Given the description of an element on the screen output the (x, y) to click on. 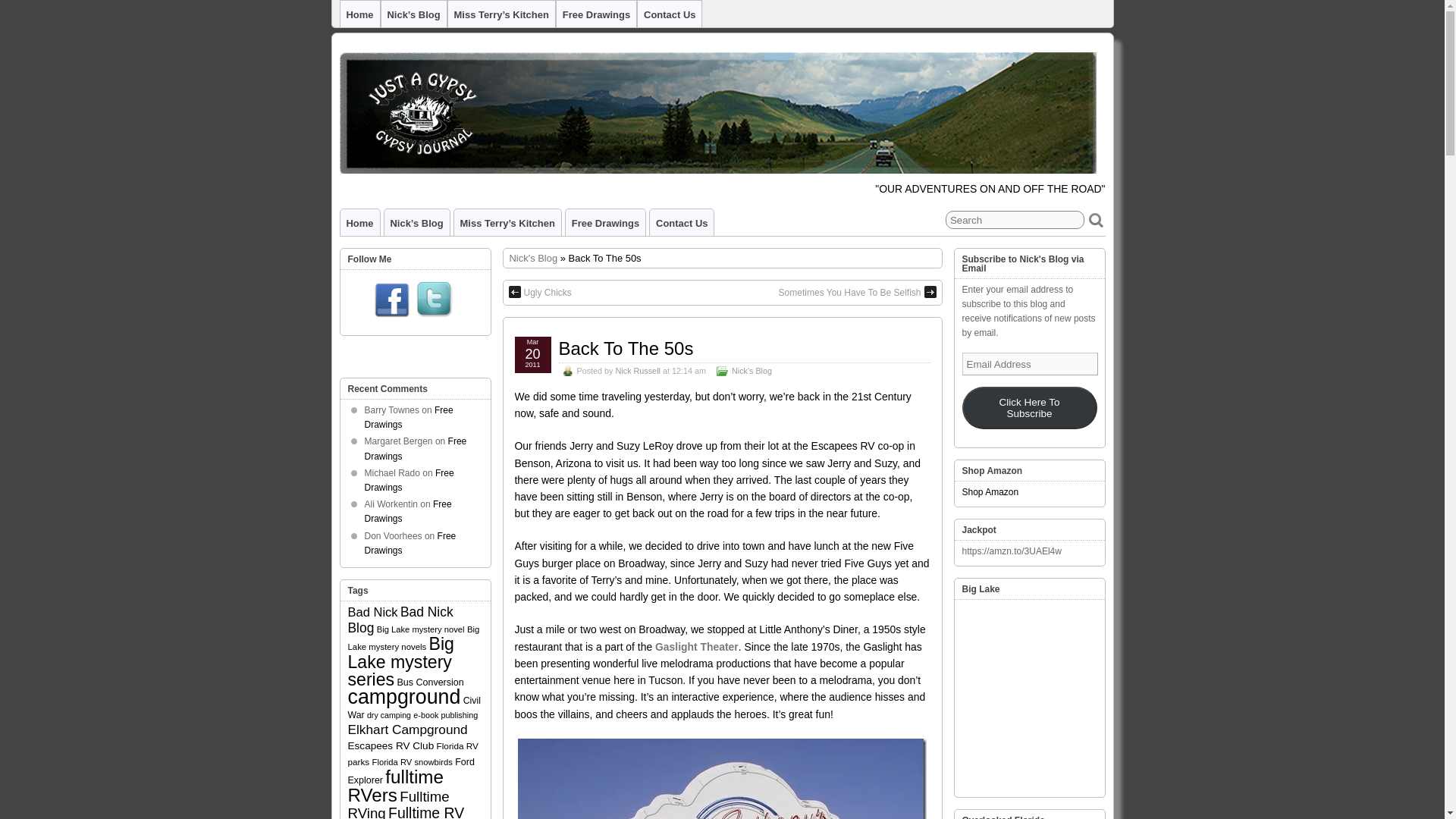
Contact Us (669, 13)
Home (358, 13)
Nick's Blog (751, 370)
Contact Us (681, 222)
Back To The 50s (625, 348)
Nick's Blog (533, 257)
  Sometimes You Have To Be Selfish (857, 292)
Little Anthony's outside 2 (722, 778)
Gaslight Theater (696, 646)
  Ugly Chicks (539, 292)
Free Drawings (605, 222)
Nick's Blog (533, 257)
Back To The 50s (625, 348)
Home (358, 222)
Nick Russell (638, 370)
